Given the description of an element on the screen output the (x, y) to click on. 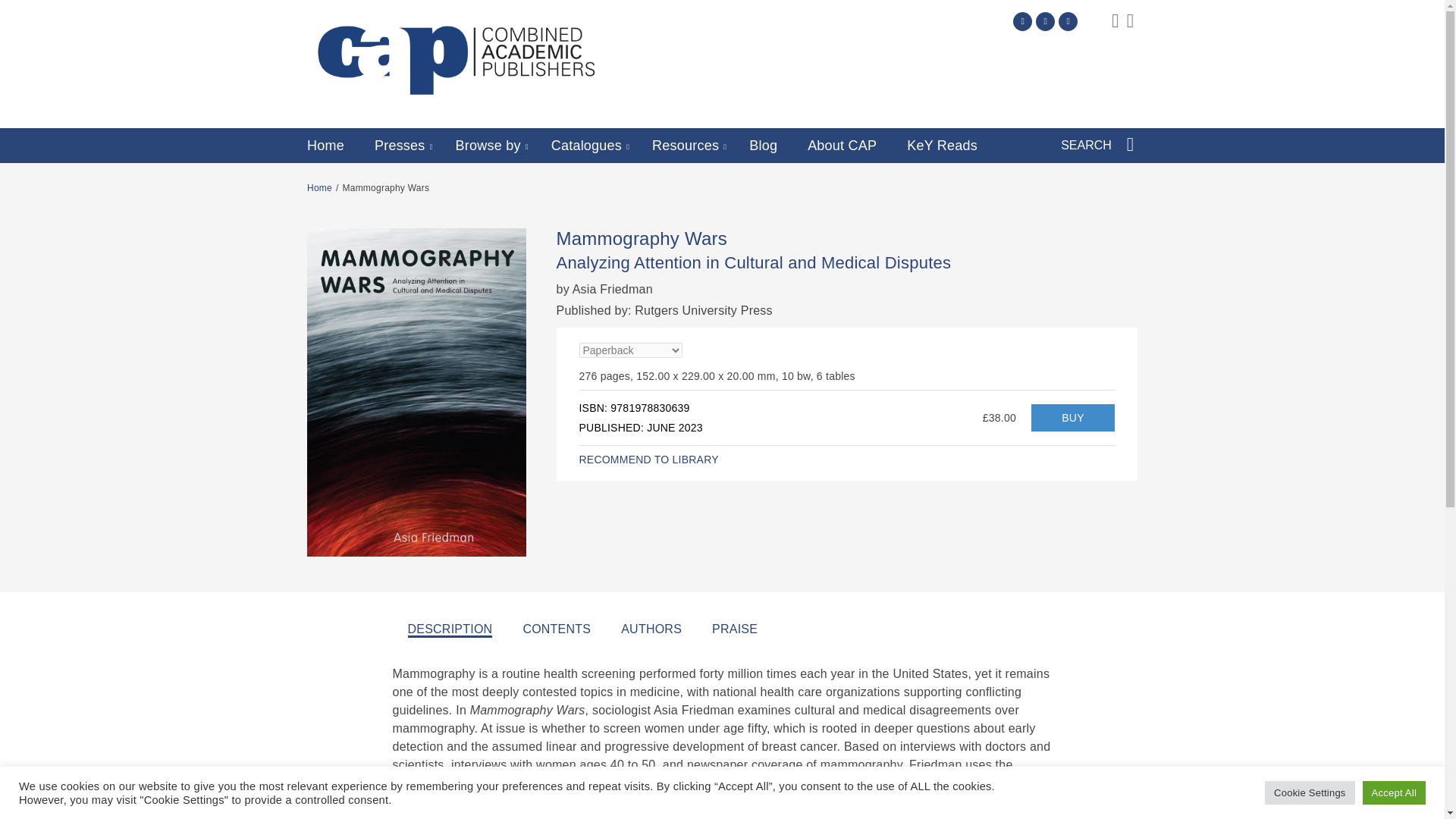
Follow us on Instagram (1067, 21)
Browse by (488, 145)
Presses (399, 145)
Back to homepage (319, 187)
Recommend to Library (649, 459)
Mammography Wars (1072, 417)
Catalogues (586, 145)
Follow us on Facebook (1044, 21)
Home (325, 145)
